Given the description of an element on the screen output the (x, y) to click on. 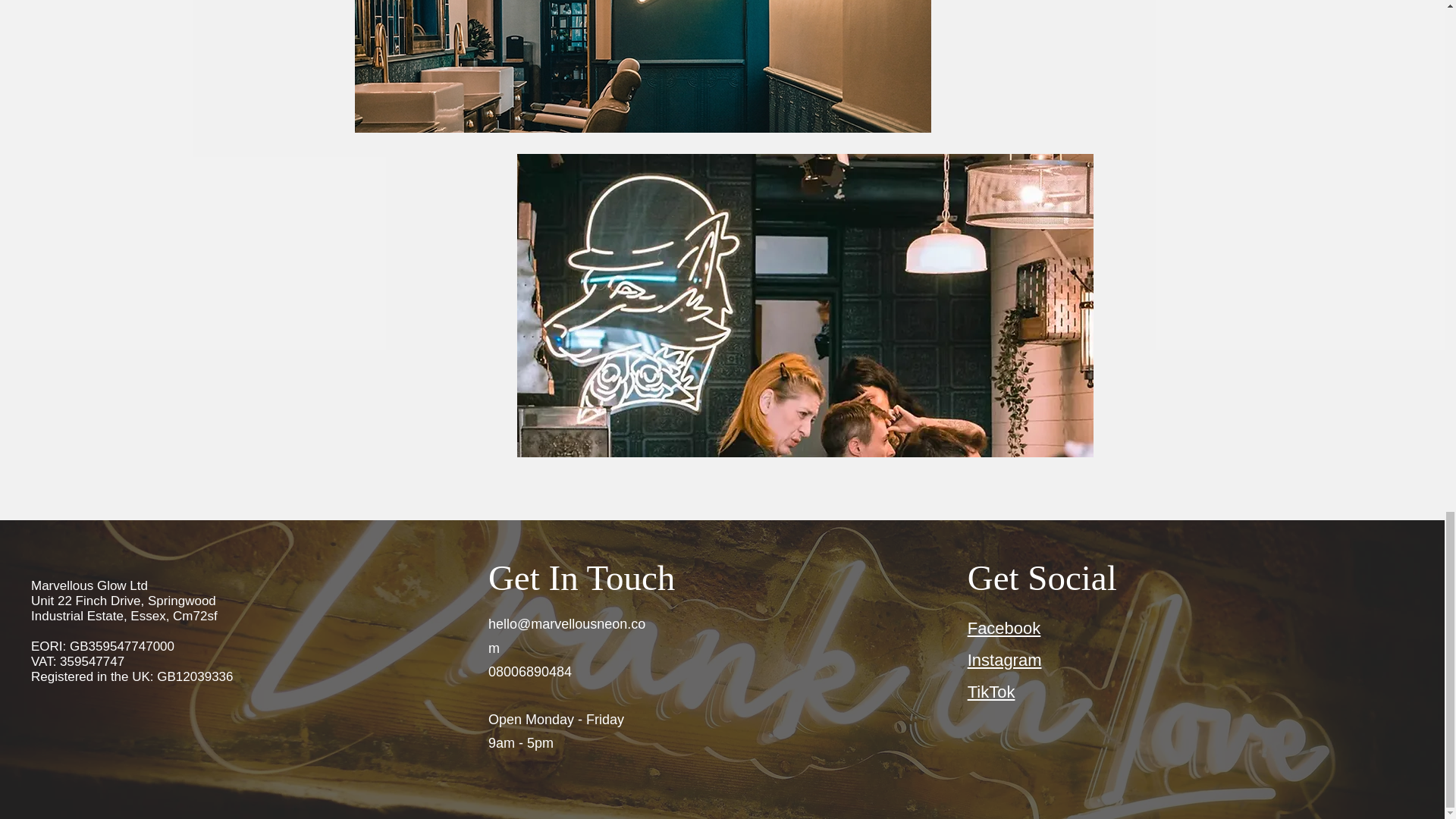
Facebook (1004, 628)
TikTok (991, 691)
Instagram (1005, 659)
